Given the description of an element on the screen output the (x, y) to click on. 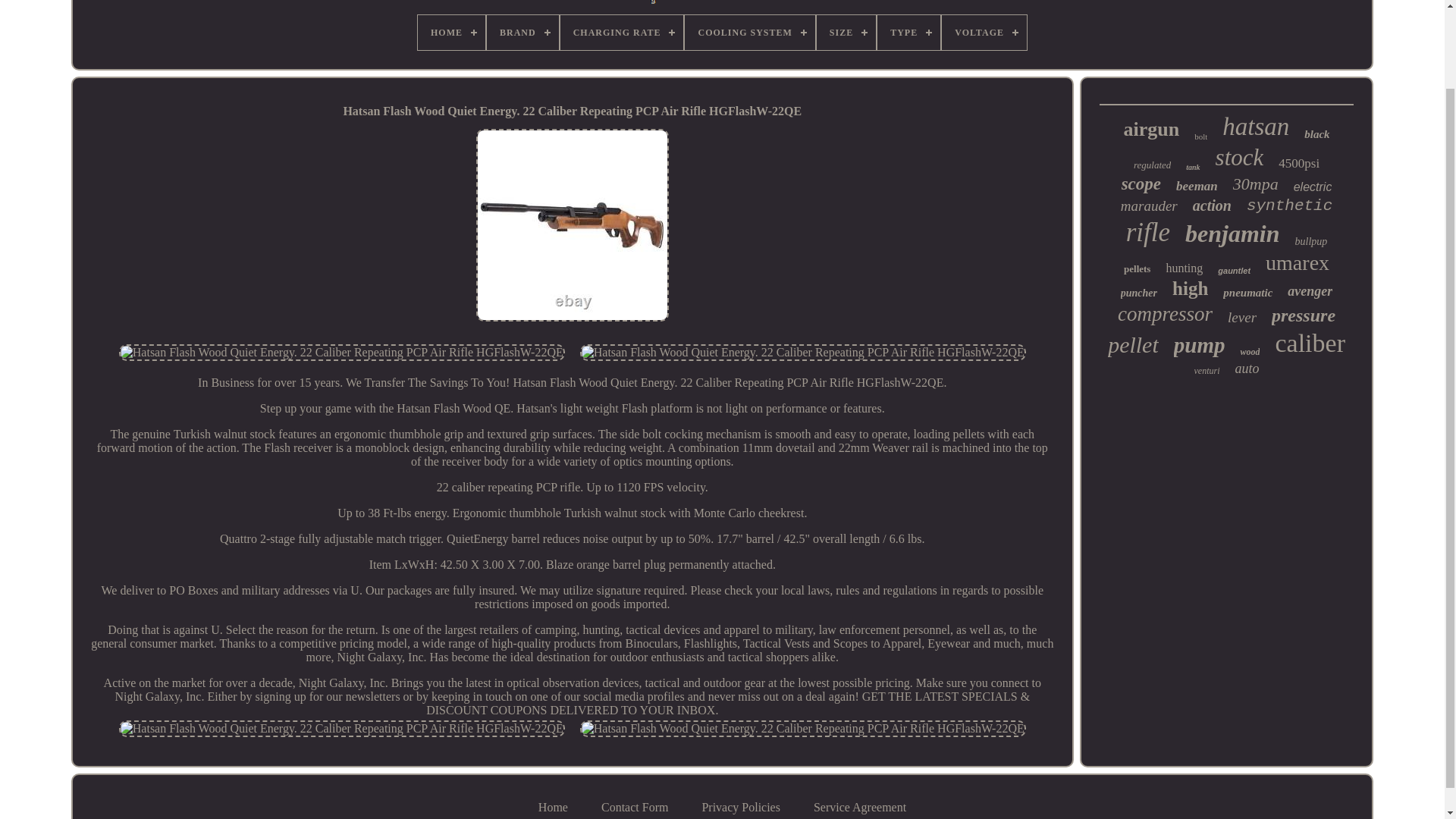
HOME (450, 32)
CHARGING RATE (622, 32)
BRAND (522, 32)
COOLING SYSTEM (748, 32)
